Given the description of an element on the screen output the (x, y) to click on. 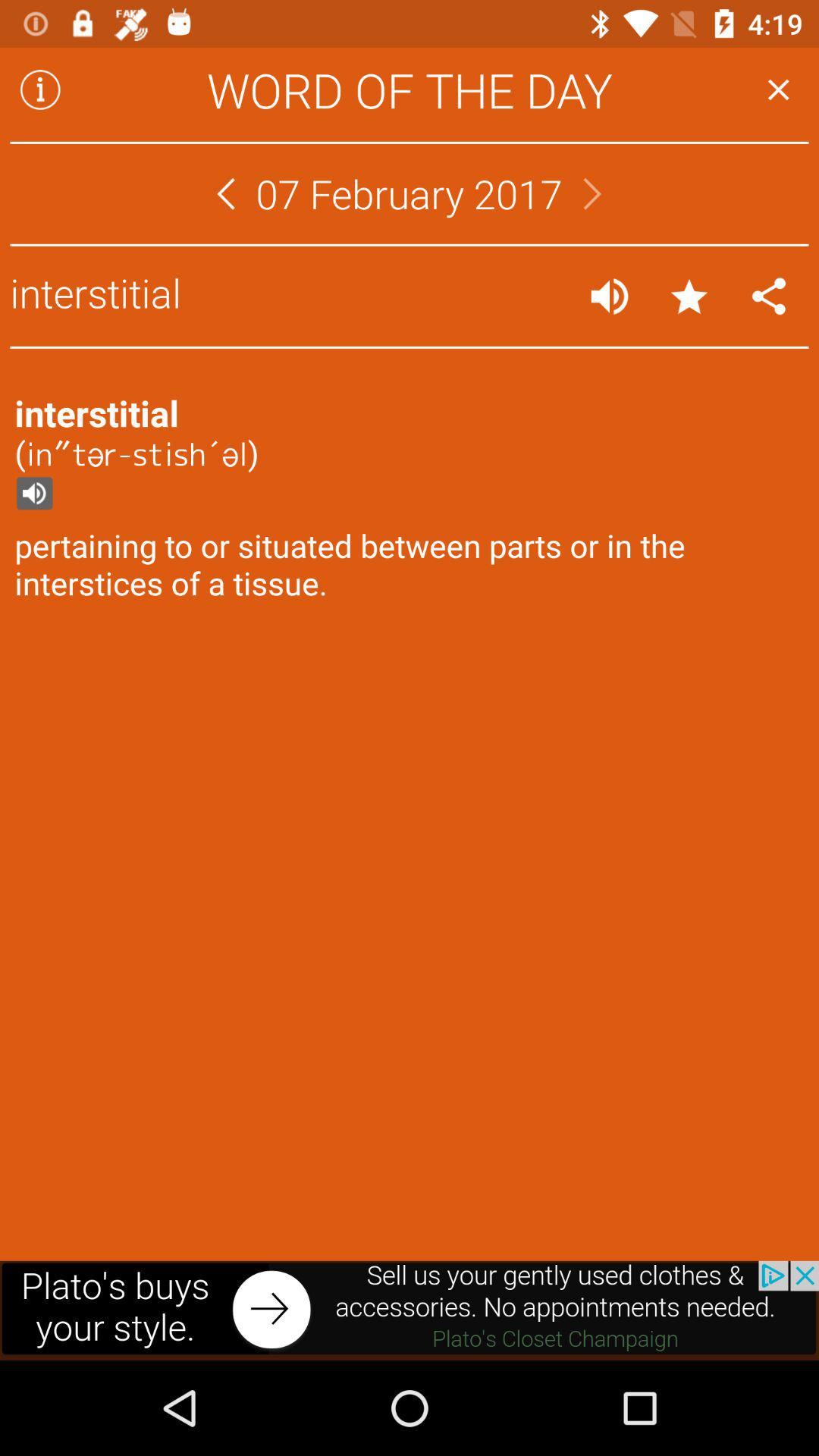
highlight (689, 296)
